Given the description of an element on the screen output the (x, y) to click on. 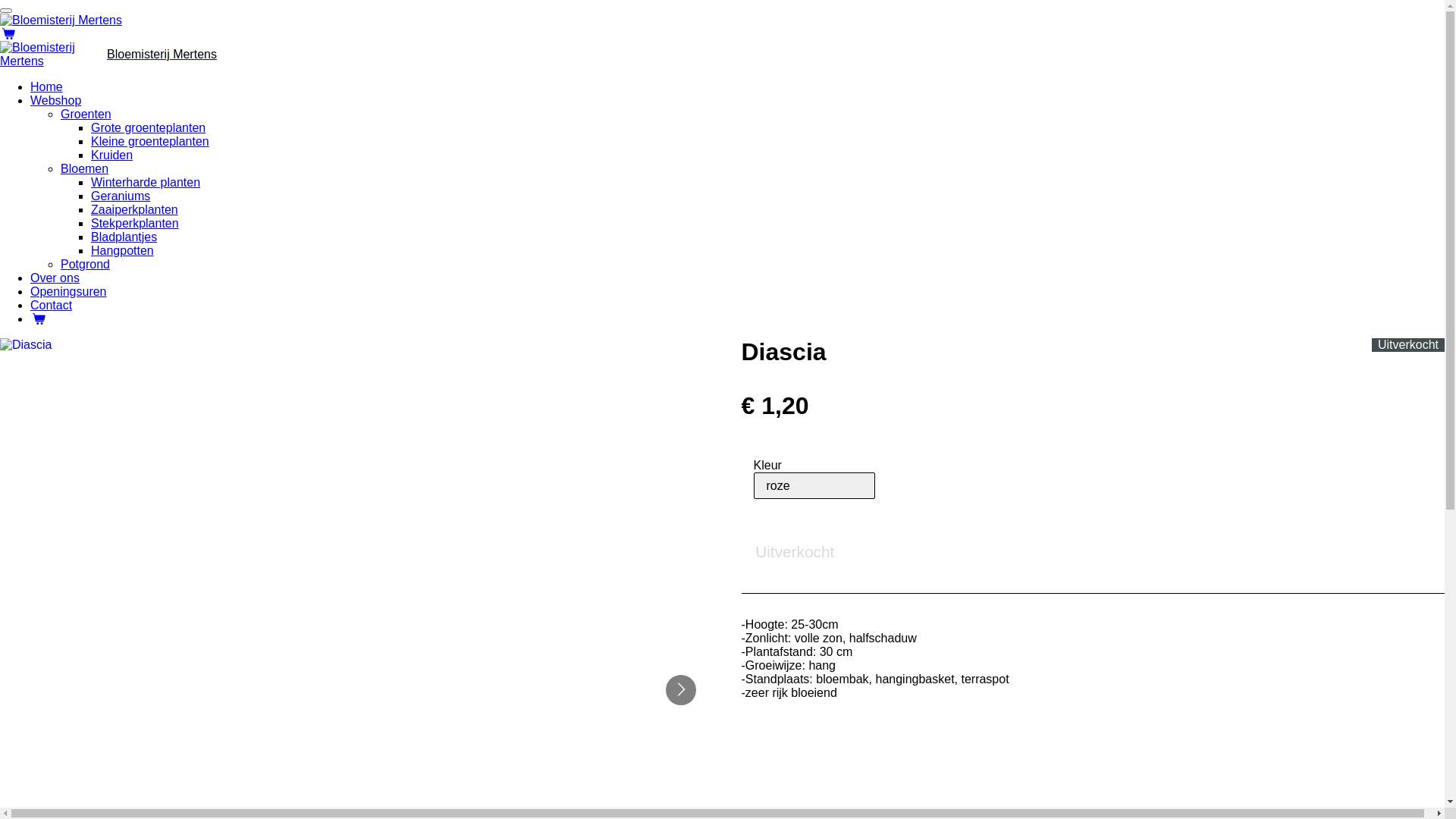
Contact Element type: text (51, 304)
Uitverkocht Element type: text (794, 552)
Webshop Element type: text (55, 100)
Potgrond Element type: text (84, 263)
Over ons Element type: text (54, 277)
Kruiden Element type: text (111, 154)
Bloemisterij Mertens Element type: hover (53, 54)
Stekperkplanten Element type: text (134, 222)
Geraniums Element type: text (120, 195)
Bloemisterij Mertens Element type: hover (61, 20)
Bloemisterij Mertens Element type: text (161, 53)
Winkelwagen Element type: hover (38, 318)
Home Element type: text (46, 86)
Zaaiperkplanten Element type: text (134, 209)
Bloemen Element type: text (84, 168)
Grote groenteplanten Element type: text (148, 127)
Winterharde planten Element type: text (145, 181)
Kleine groenteplanten Element type: text (150, 140)
Bladplantjes Element type: text (123, 236)
Openingsuren Element type: text (68, 291)
Groenten Element type: text (85, 113)
Hangpotten Element type: text (122, 250)
